Given the description of an element on the screen output the (x, y) to click on. 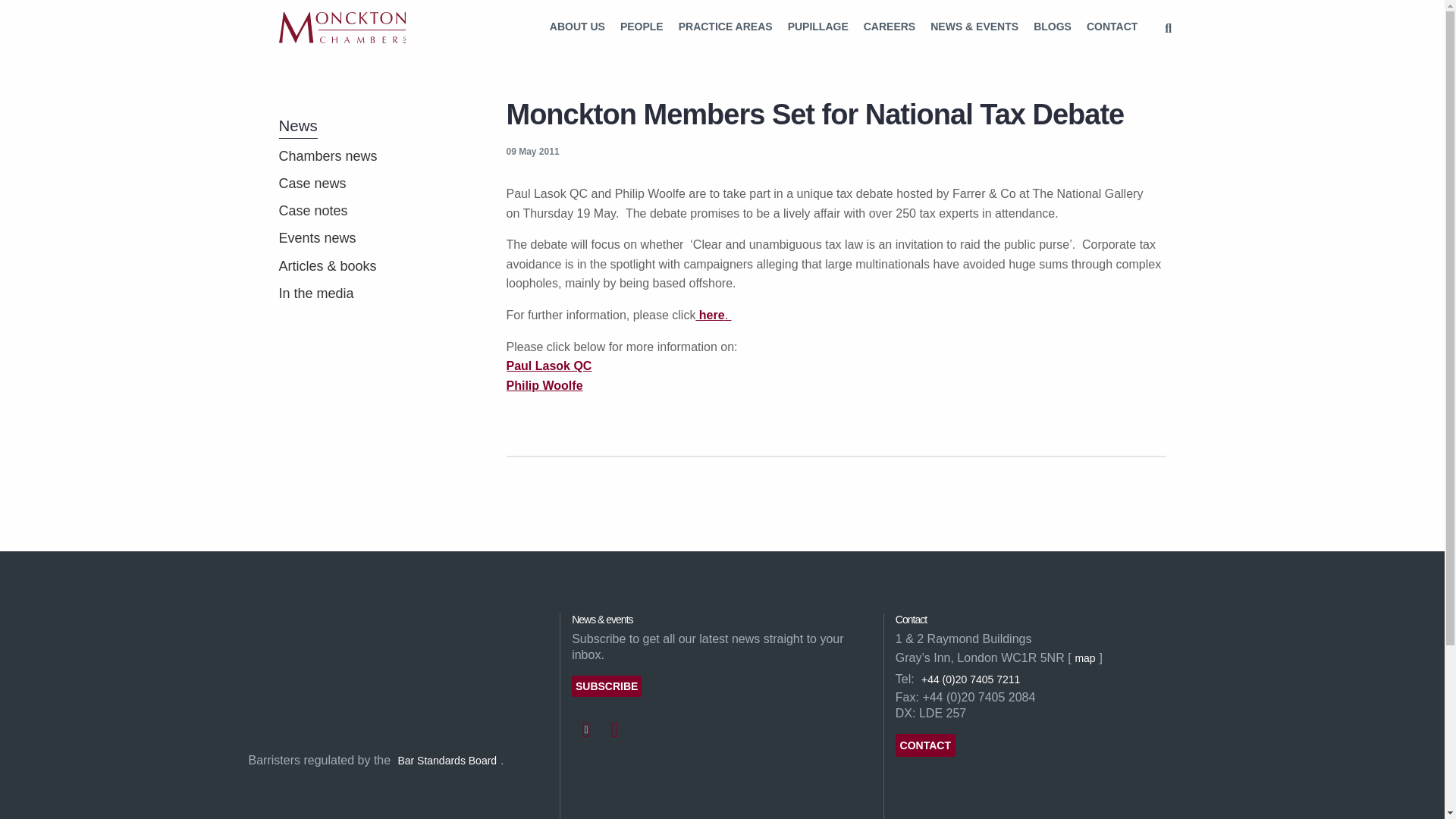
Philip Woolfe (544, 386)
Search (1168, 28)
PRACTICE AREAS (725, 27)
PUPILLAGE (818, 27)
Monckton Chambers (342, 26)
PEOPLE (641, 27)
ABOUT US (576, 27)
Paul Lasok QC (549, 366)
